Given the description of an element on the screen output the (x, y) to click on. 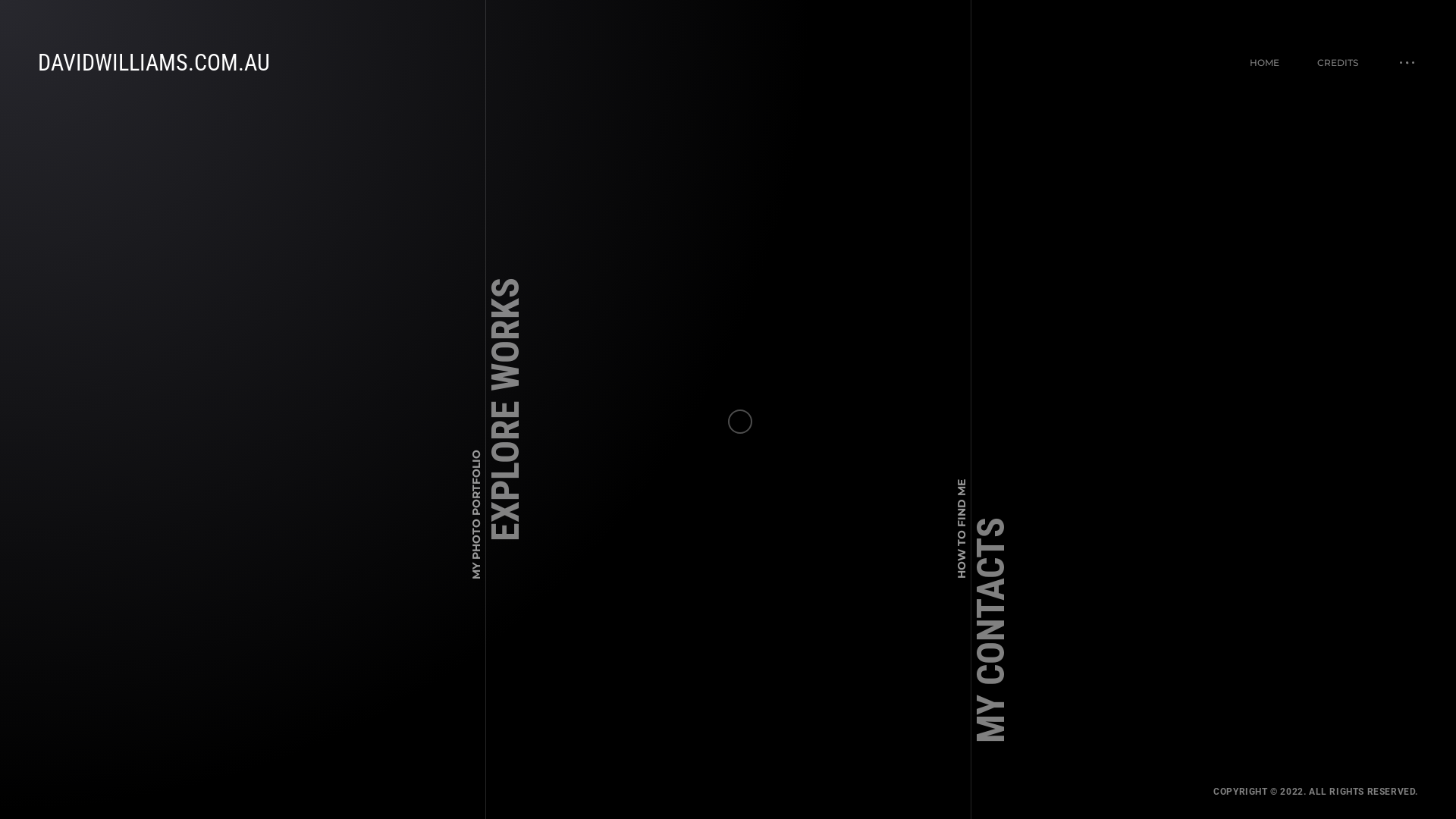
DAVIDWILLIAMS.COM.AU Element type: text (153, 62)
HOW TO FIND ME
MY CONTACTS Element type: text (1067, 545)
Submit Element type: text (546, 690)
MY PHOTO PORTFOLIO
EXPLORE WORKS Element type: text (601, 306)
CREDITS Element type: text (1337, 62)
HOME Element type: text (1264, 62)
